Given the description of an element on the screen output the (x, y) to click on. 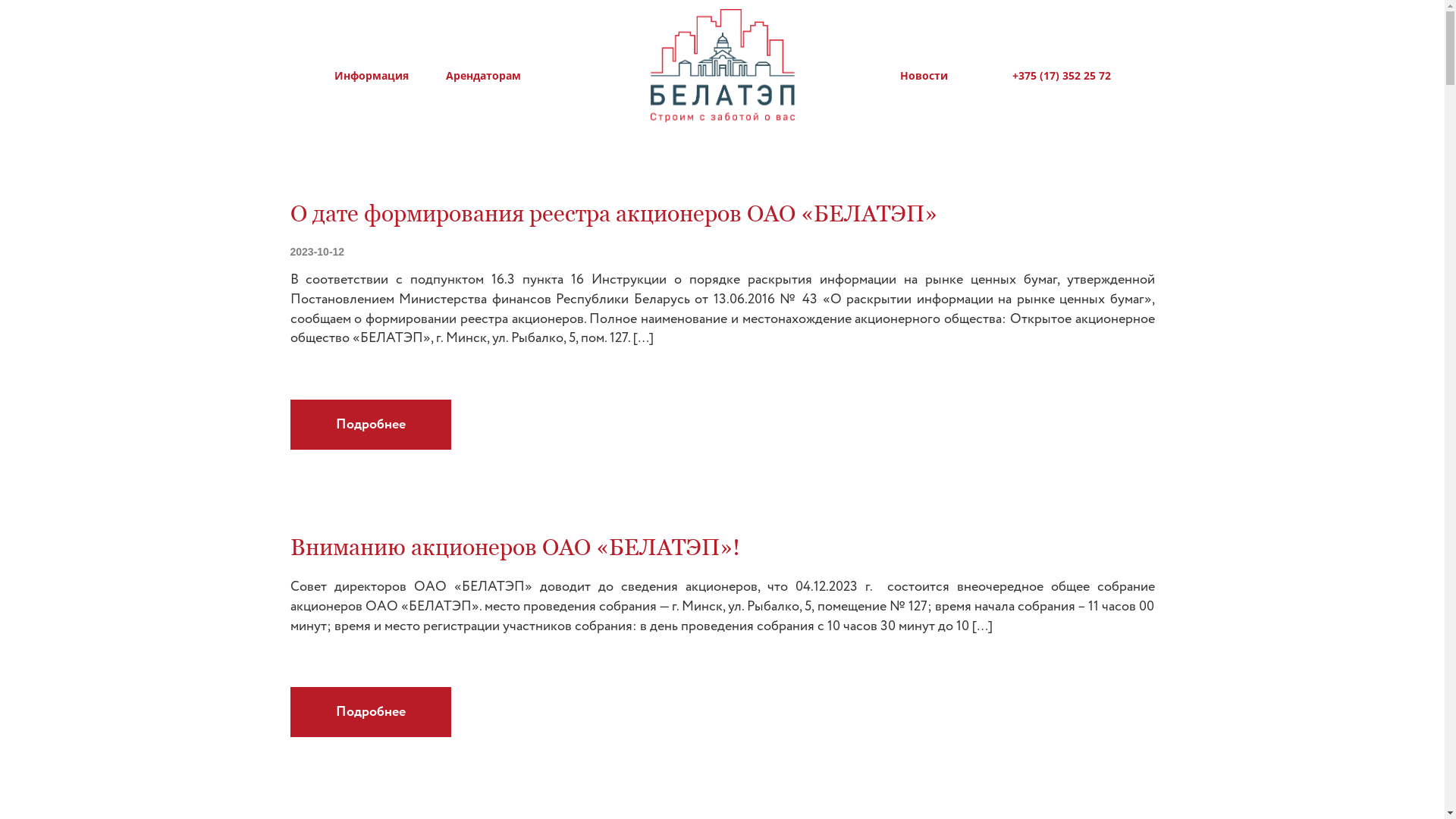
+375 (17) 352 25 72 Element type: text (1047, 75)
